Given the description of an element on the screen output the (x, y) to click on. 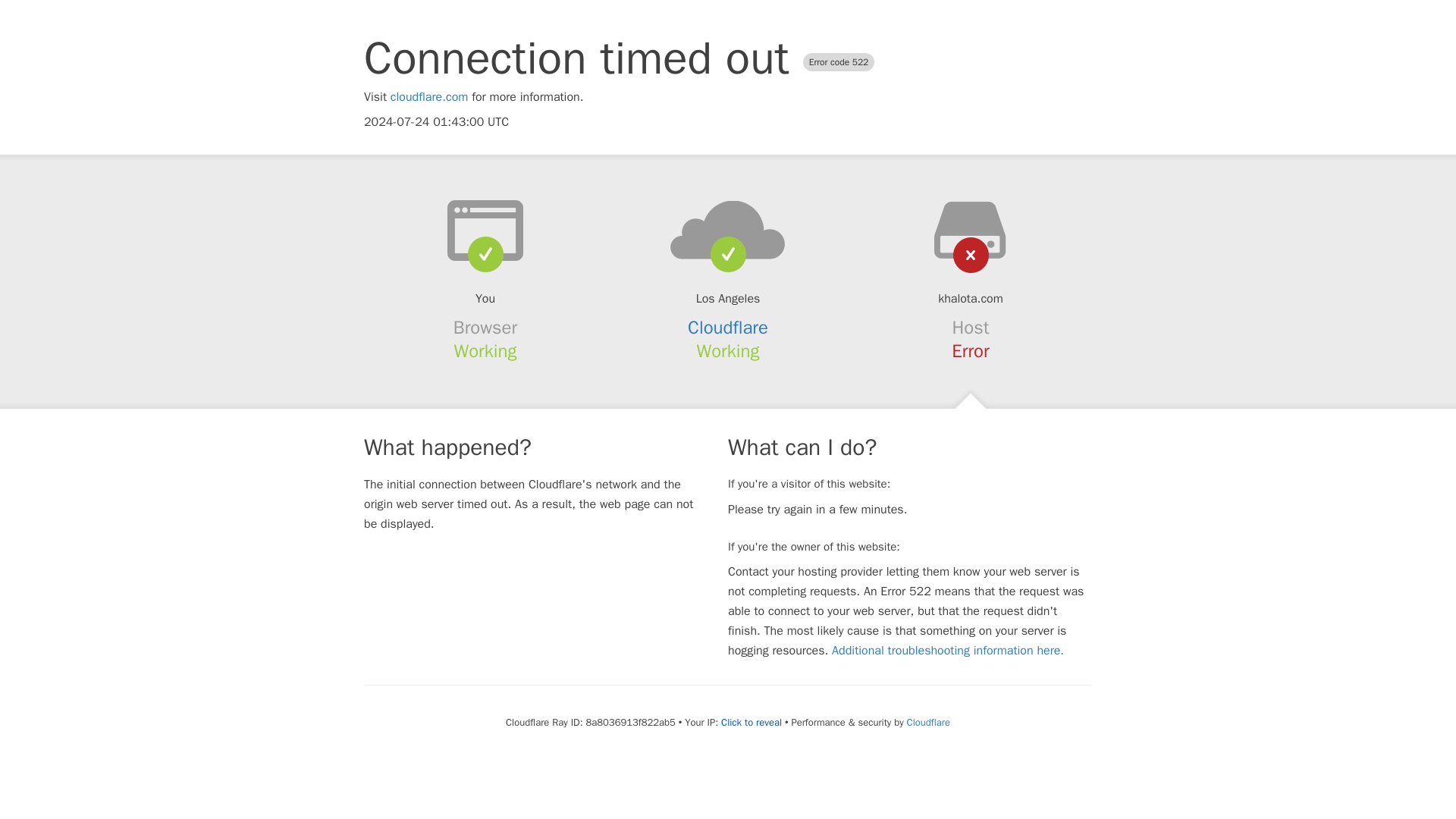
Cloudflare (727, 327)
cloudflare.com (429, 96)
Additional troubleshooting information here. (947, 650)
Click to reveal (750, 722)
Cloudflare (928, 721)
